Given the description of an element on the screen output the (x, y) to click on. 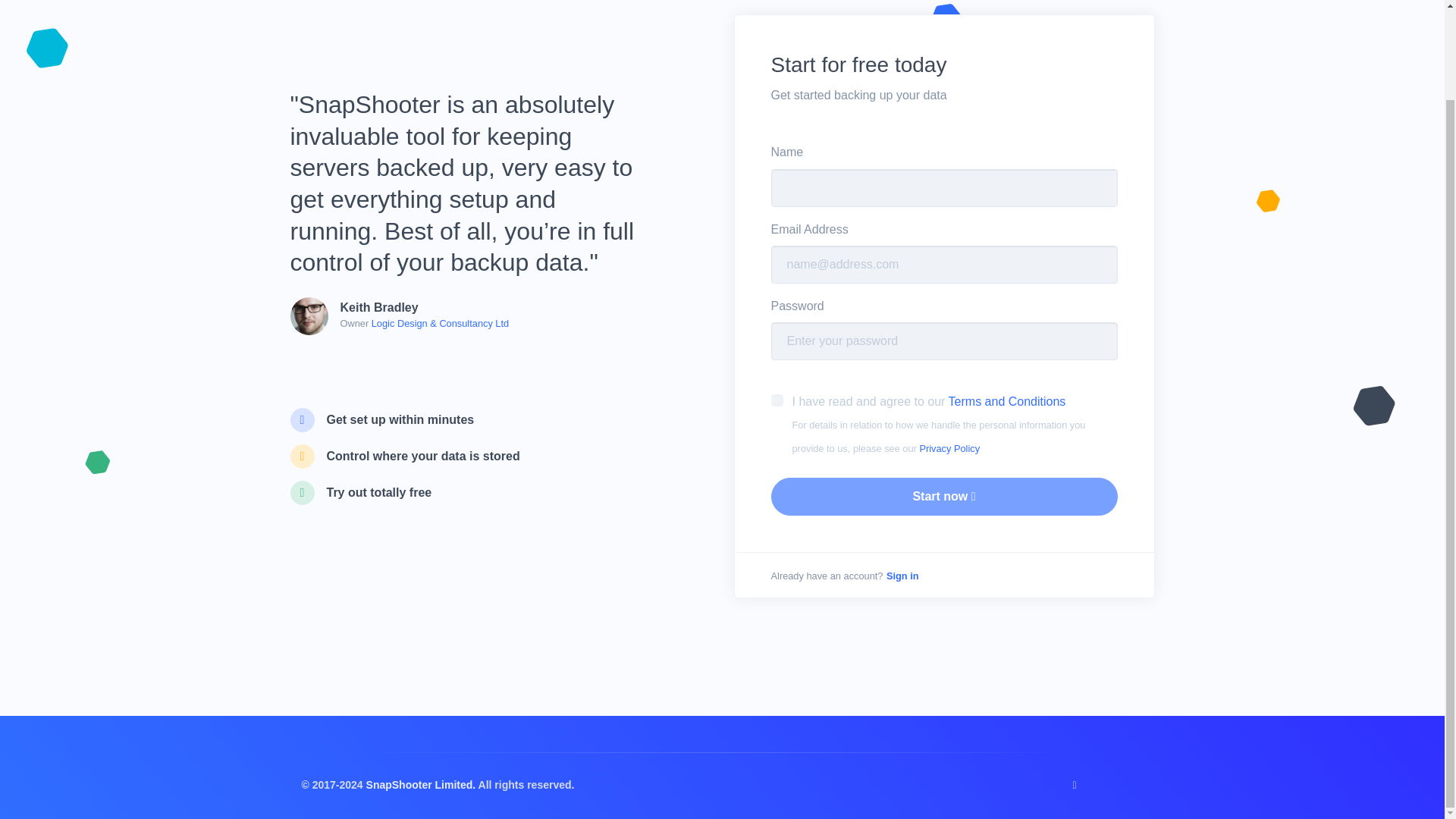
Sign in (902, 575)
Start now (943, 496)
Privacy Policy (949, 448)
SnapShooter Limited. (422, 784)
Terms and Conditions (1008, 400)
